Given the description of an element on the screen output the (x, y) to click on. 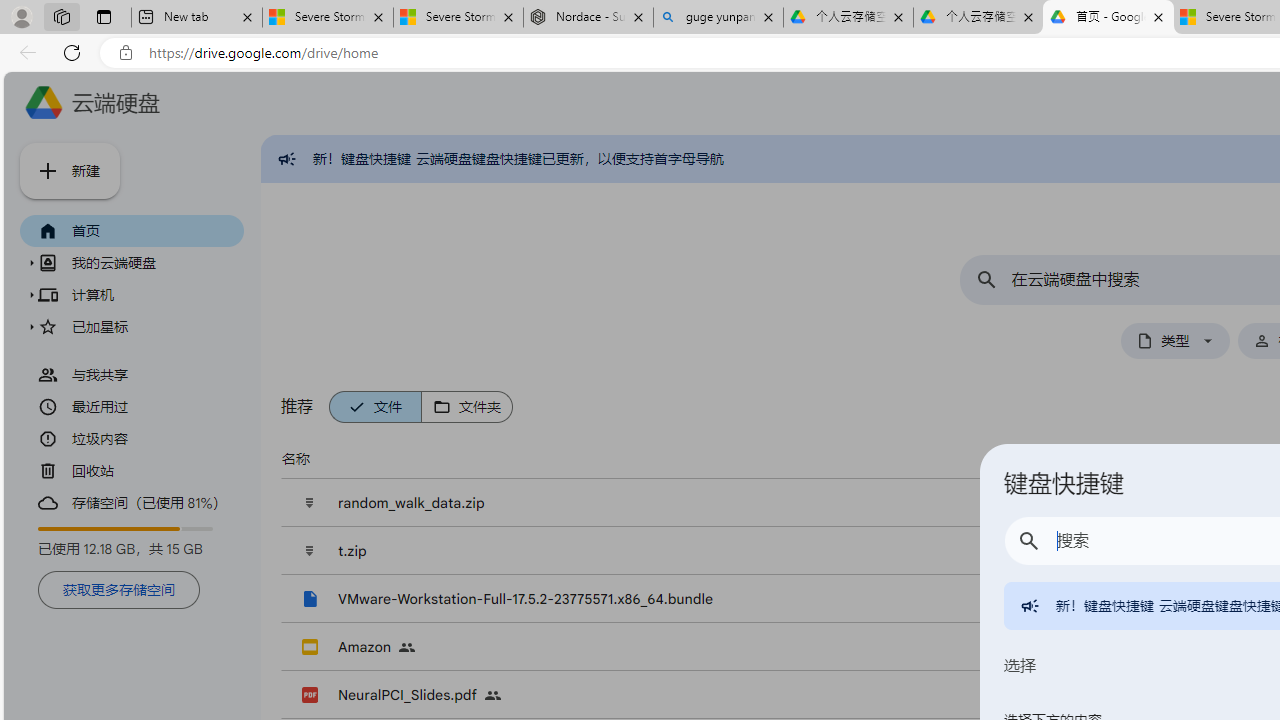
Nordace - Summer Adventures 2024 (587, 17)
guge yunpan - Search (718, 17)
